Given the description of an element on the screen output the (x, y) to click on. 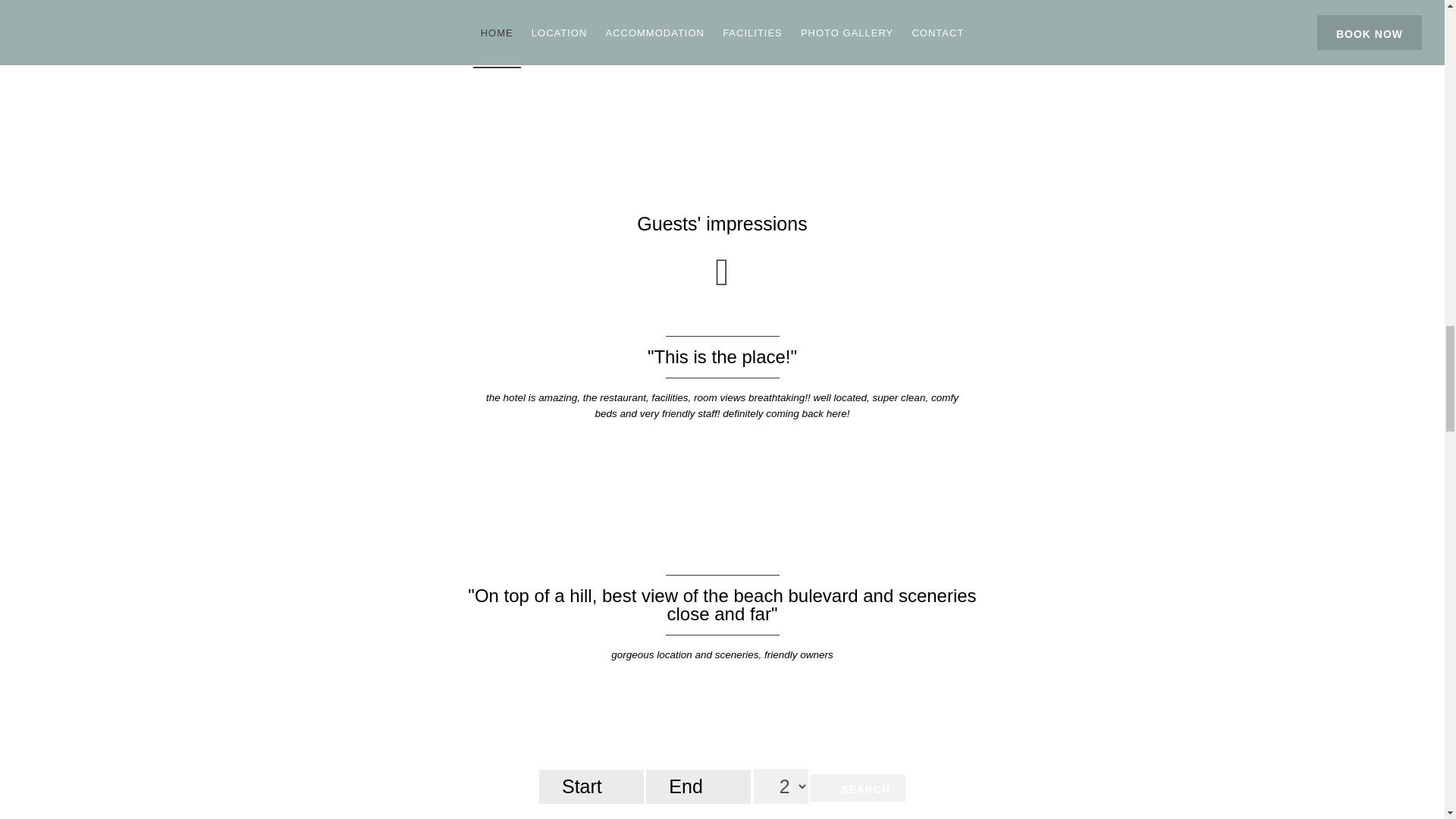
"This is the place!" (721, 356)
Guests' impressions (721, 223)
